Given the description of an element on the screen output the (x, y) to click on. 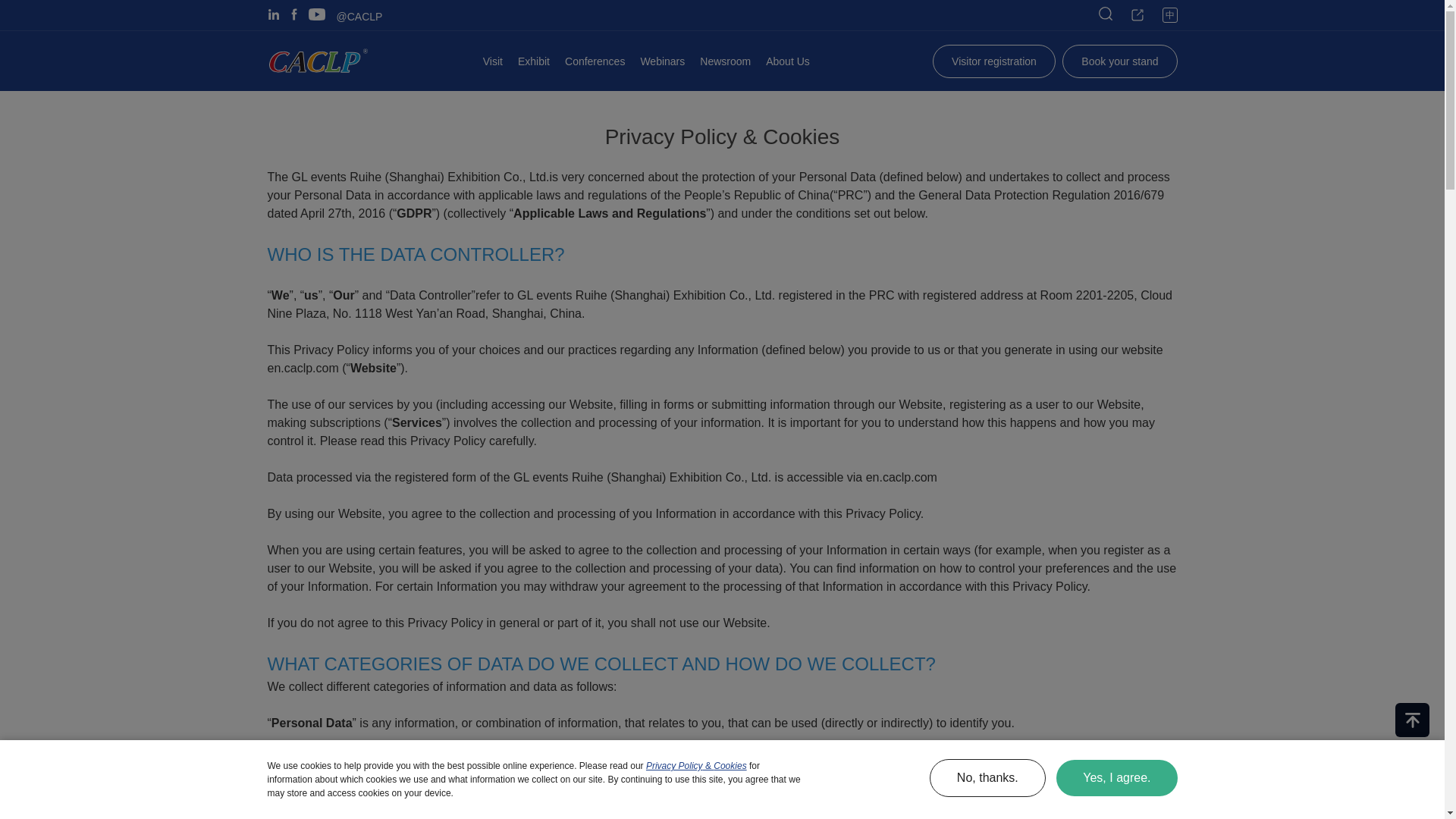
Newsroom (725, 61)
Exhibit (534, 61)
About Us (787, 61)
Visitor registration (994, 61)
Conferences (594, 61)
Webinars (662, 61)
Book your stand (1119, 61)
Home (316, 61)
Visit (492, 61)
